Given the description of an element on the screen output the (x, y) to click on. 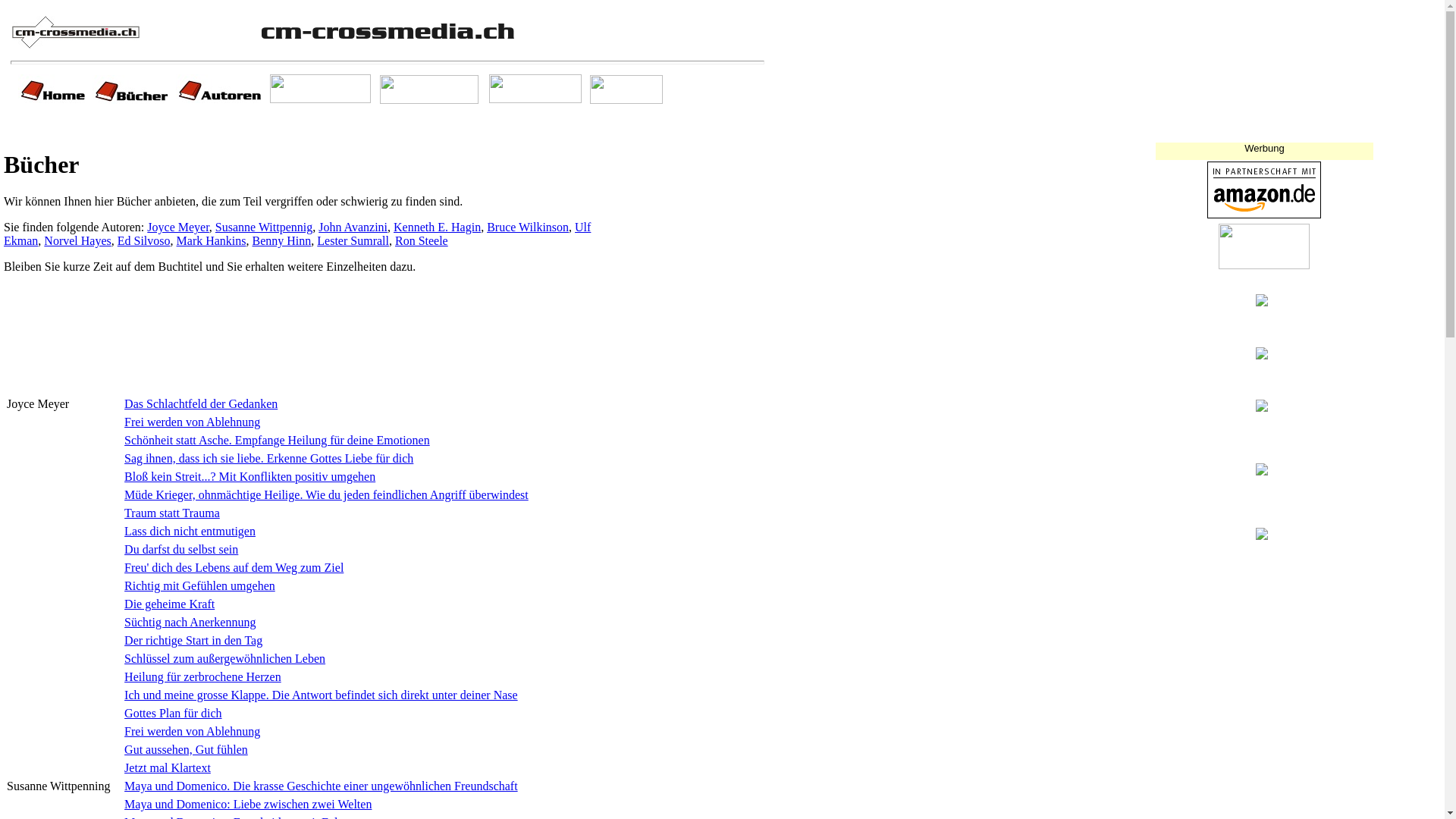
Der richtige Start in den Tag Element type: text (193, 639)
Bruce Wilkinson Element type: text (527, 226)
In Partnerschaft mit amazon.de Element type: hover (1264, 213)
Freu' dich des Lebens auf dem Weg zum Ziel Element type: text (233, 567)
Benny Hinn Element type: text (281, 240)
Ed Silvoso Element type: text (143, 240)
Du darfst du selbst sein Element type: text (181, 548)
Lester Sumrall Element type: text (352, 240)
Norvel Hayes Element type: text (76, 240)
Traum statt Trauma Element type: text (171, 512)
Kenneth E. Hagin Element type: text (436, 226)
Lass dich nicht entmutigen Element type: text (189, 530)
Das Schlachtfeld der Gedanken Element type: text (200, 403)
Die geheime Kraft Element type: text (169, 603)
Ron Steele Element type: text (421, 240)
Ulf Ekman Element type: text (296, 233)
Jetzt mal Klartext Element type: text (167, 767)
Frei werden von Ablehnung Element type: text (192, 730)
John Avanzini Element type: text (352, 226)
Susanne Wittpennig Element type: text (263, 226)
Mark Hankins Element type: text (211, 240)
Joyce Meyer Element type: text (178, 226)
Frei werden von Ablehnung Element type: text (192, 421)
Maya und Domenico: Liebe zwischen zwei Welten Element type: text (247, 803)
